Given the description of an element on the screen output the (x, y) to click on. 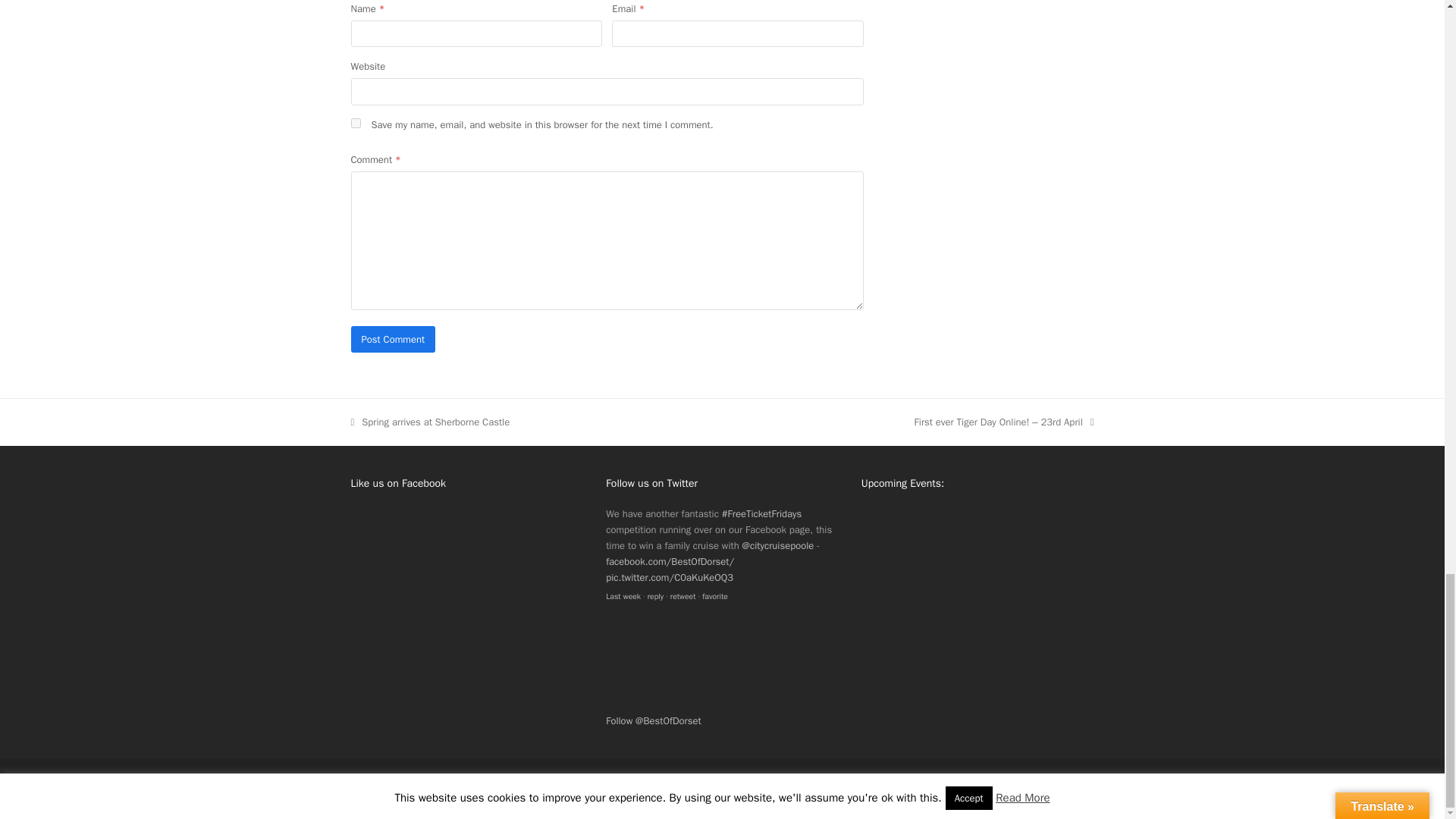
favorite (714, 596)
retweet (682, 596)
City Cruises Poole (777, 545)
yes (354, 122)
reply (655, 596)
Post Comment (392, 338)
